Given the description of an element on the screen output the (x, y) to click on. 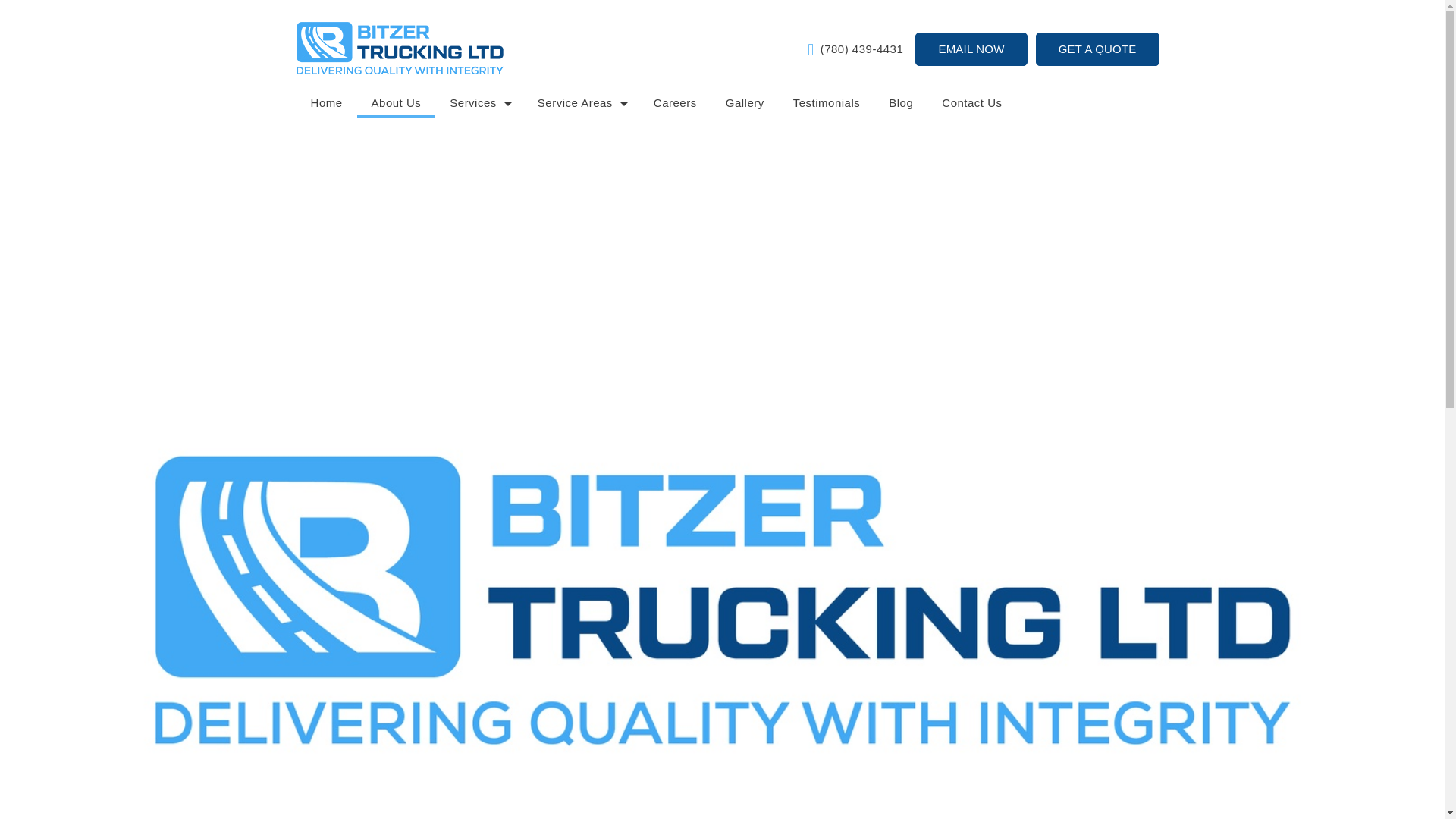
GET A QUOTE (1096, 49)
About Us (395, 103)
Services (478, 103)
Gallery (744, 103)
Service Areas (580, 103)
Blog (901, 103)
Contact Us (971, 103)
Home (326, 103)
Testimonials (826, 103)
EMAIL NOW (970, 49)
Careers (675, 103)
